Given the description of an element on the screen output the (x, y) to click on. 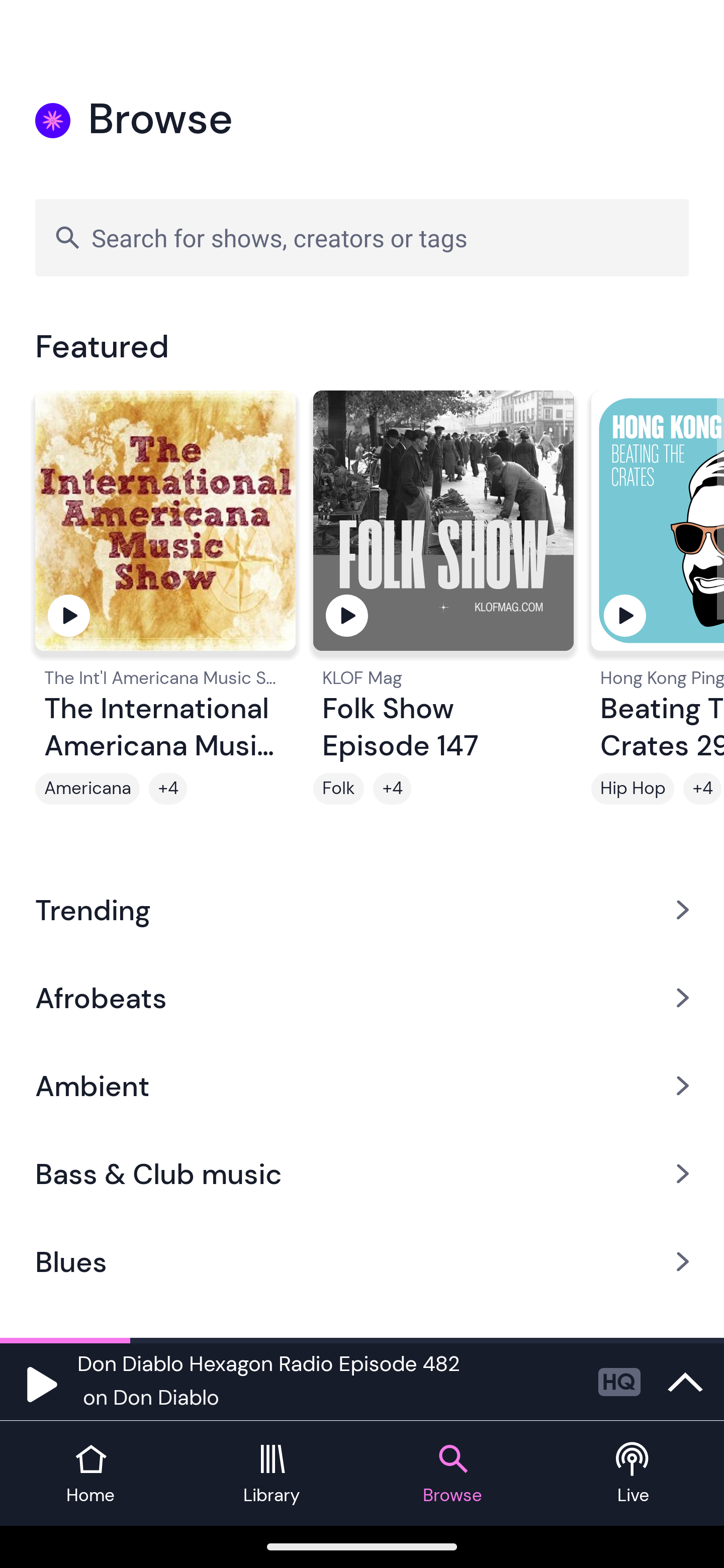
Search for shows, creators or tags (361, 237)
Americana (87, 788)
Folk (338, 788)
Hip Hop (632, 788)
Trending (361, 909)
Afrobeats (361, 997)
Ambient (361, 1085)
Bass & Club music (361, 1174)
Blues (361, 1262)
Home tab Home (90, 1473)
Library tab Library (271, 1473)
Browse tab Browse (452, 1473)
Live tab Live (633, 1473)
